Given the description of an element on the screen output the (x, y) to click on. 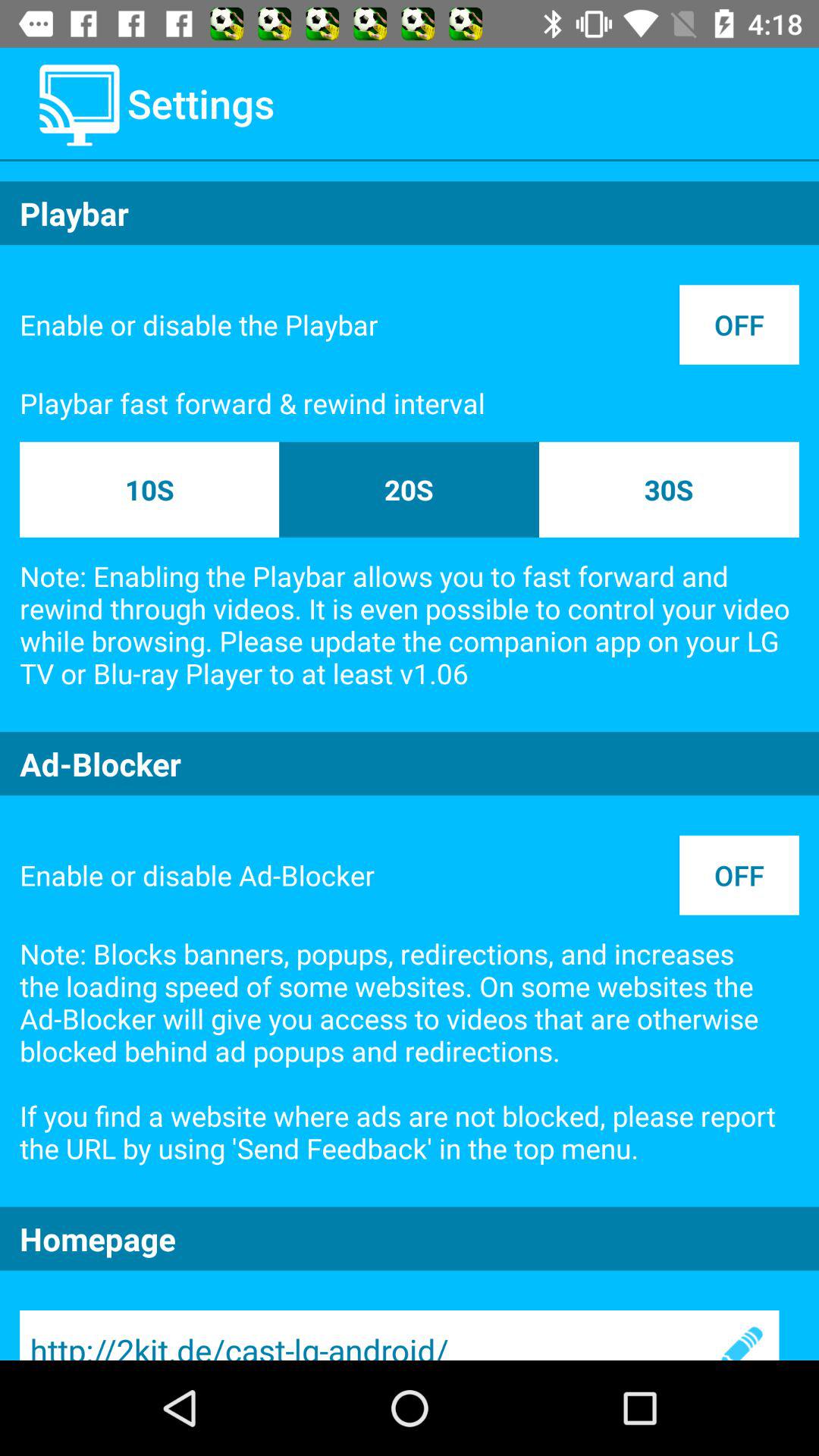
edit homepage (739, 1335)
